Given the description of an element on the screen output the (x, y) to click on. 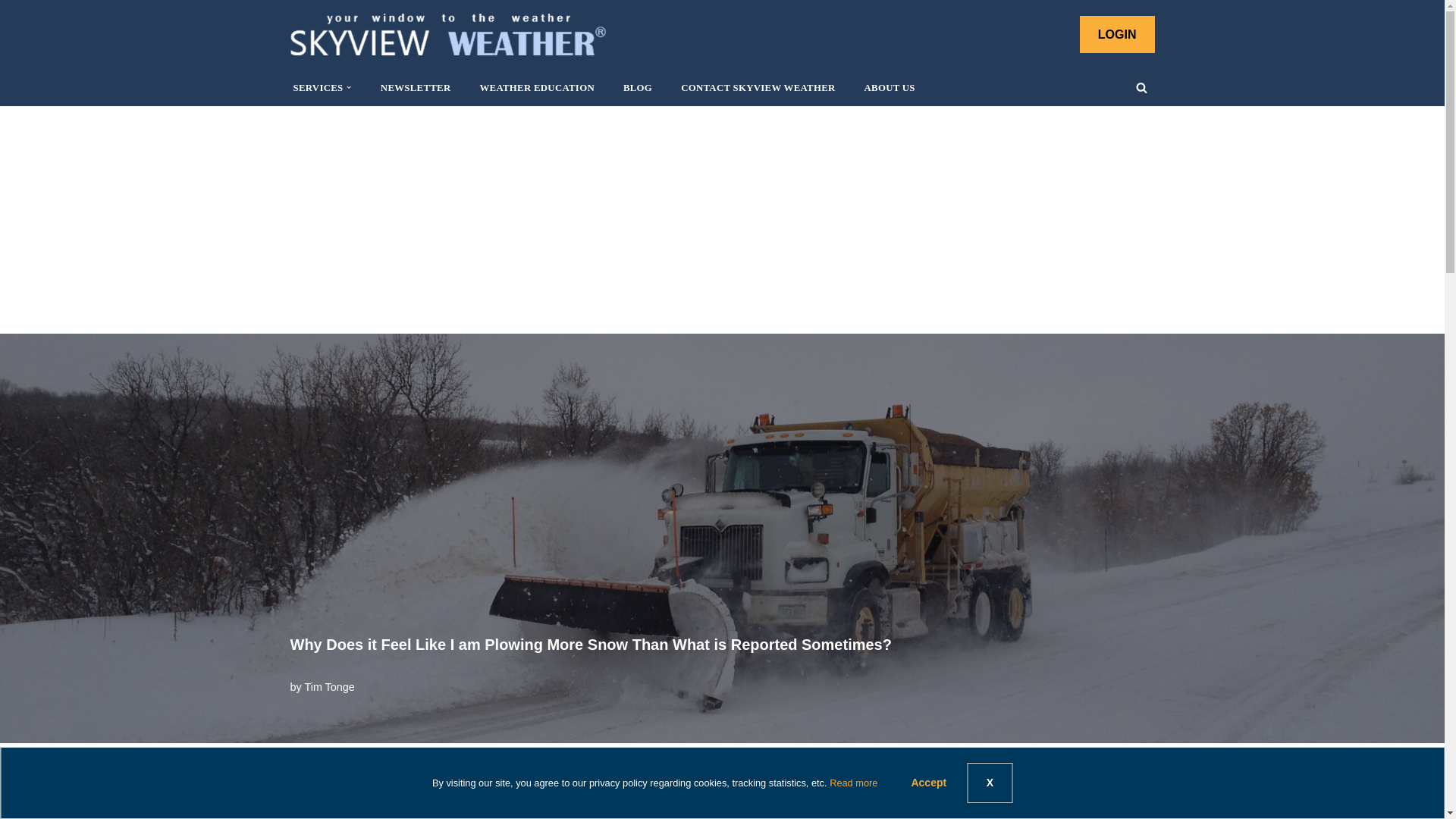
ABOUT US (889, 87)
X (989, 782)
Manage cookies (73, 783)
WEATHER EDUCATION (536, 87)
Skip to content (11, 31)
Read more (853, 782)
CONTACT SKYVIEW WEATHER (757, 87)
NEWSLETTER (415, 87)
SERVICES (317, 87)
Posts by Tim Tonge (328, 686)
LOGIN (1117, 34)
BLOG (637, 87)
Accept (927, 782)
